Given the description of an element on the screen output the (x, y) to click on. 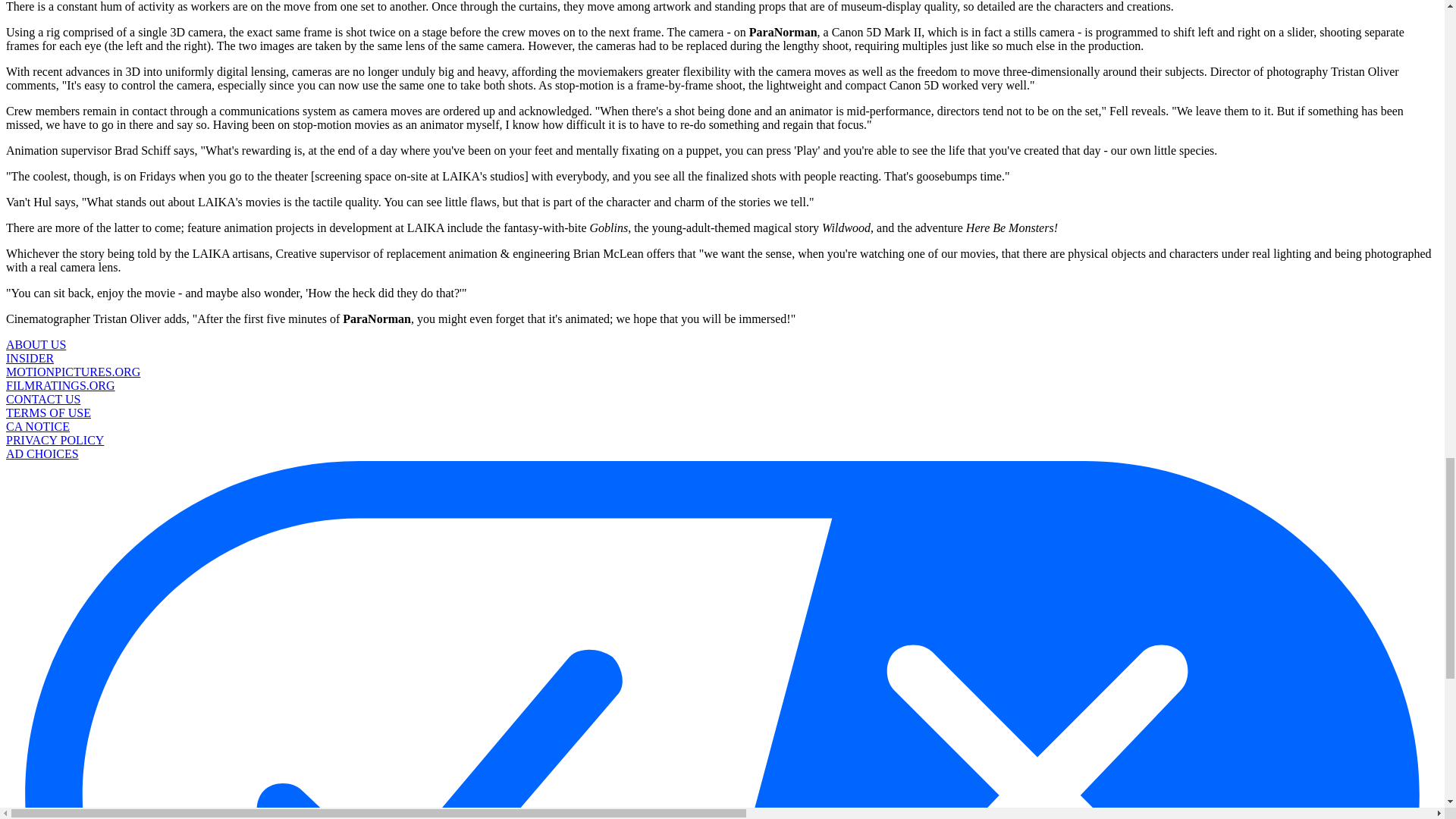
MOTIONPICTURES.ORG (72, 371)
TERMS OF USE (47, 412)
CONTACT US (42, 399)
INSIDER (29, 358)
PRIVACY POLICY (54, 440)
CA NOTICE (37, 426)
ABOUT US (35, 344)
FILMRATINGS.ORG (60, 385)
AD CHOICES (41, 453)
